Given the description of an element on the screen output the (x, y) to click on. 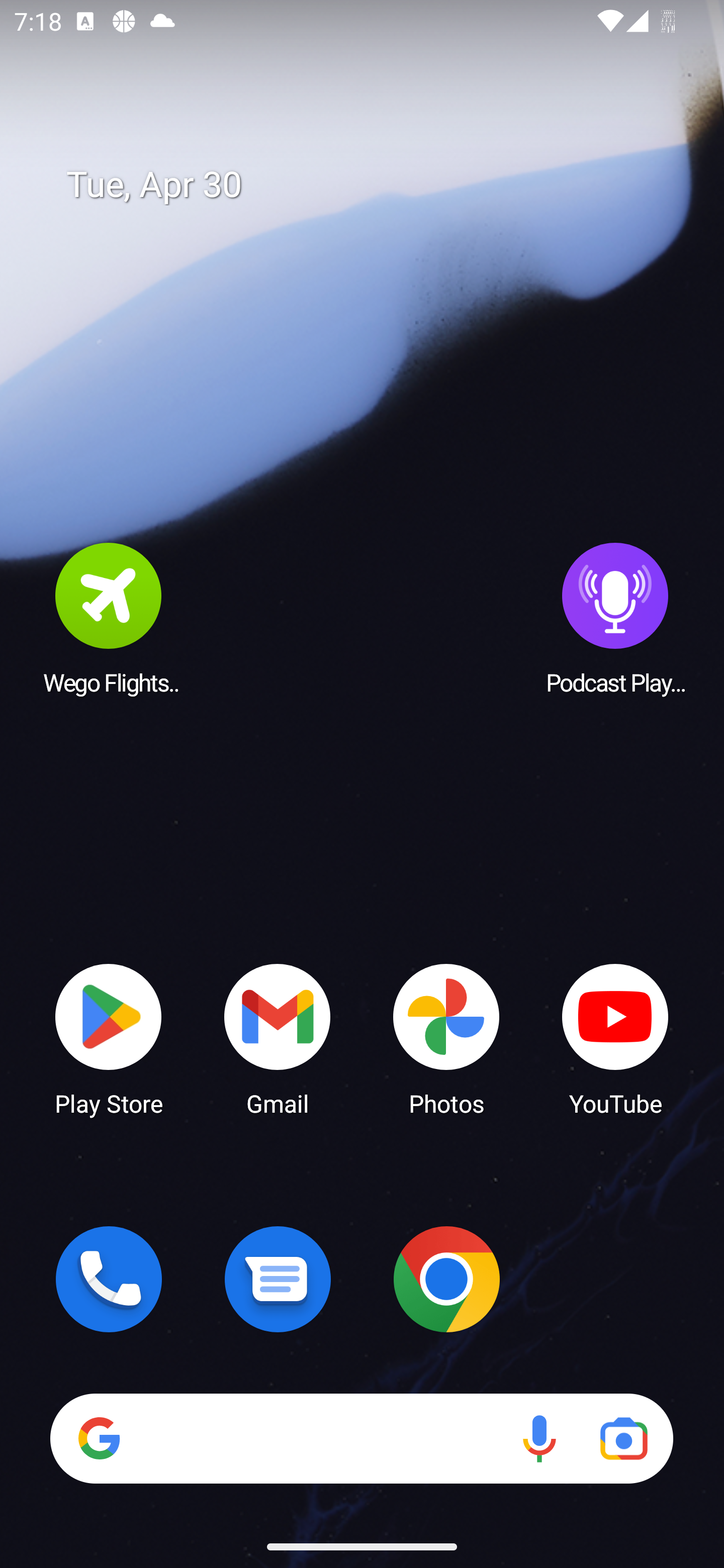
Tue, Apr 30 (375, 184)
Wego Flights & Hotels (108, 617)
Podcast Player (615, 617)
Play Store (108, 1038)
Gmail (277, 1038)
Photos (445, 1038)
YouTube (615, 1038)
Phone (108, 1279)
Messages (277, 1279)
Chrome (446, 1279)
Voice search (539, 1438)
Google Lens (623, 1438)
